Given the description of an element on the screen output the (x, y) to click on. 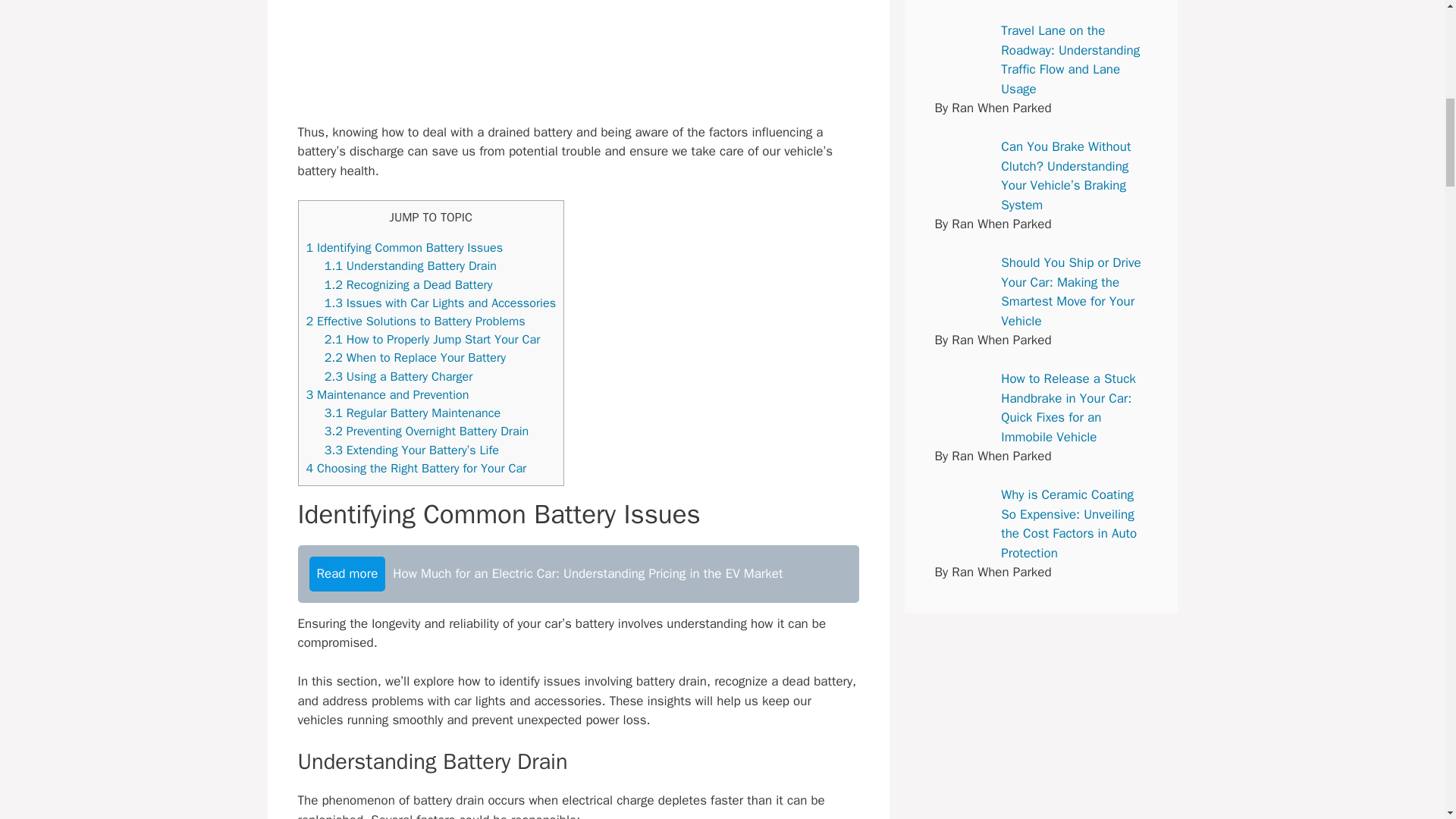
1 Identifying Common Battery Issues (404, 247)
3.1 Regular Battery Maintenance (412, 412)
1.3 Issues with Car Lights and Accessories (440, 302)
2.2 When to Replace Your Battery (414, 357)
3 Maintenance and Prevention (386, 394)
2.1 How to Properly Jump Start Your Car (432, 339)
2.3 Using a Battery Charger (398, 376)
1.2 Recognizing a Dead Battery (408, 284)
1.1 Understanding Battery Drain (410, 265)
2 Effective Solutions to Battery Problems (415, 320)
